Given the description of an element on the screen output the (x, y) to click on. 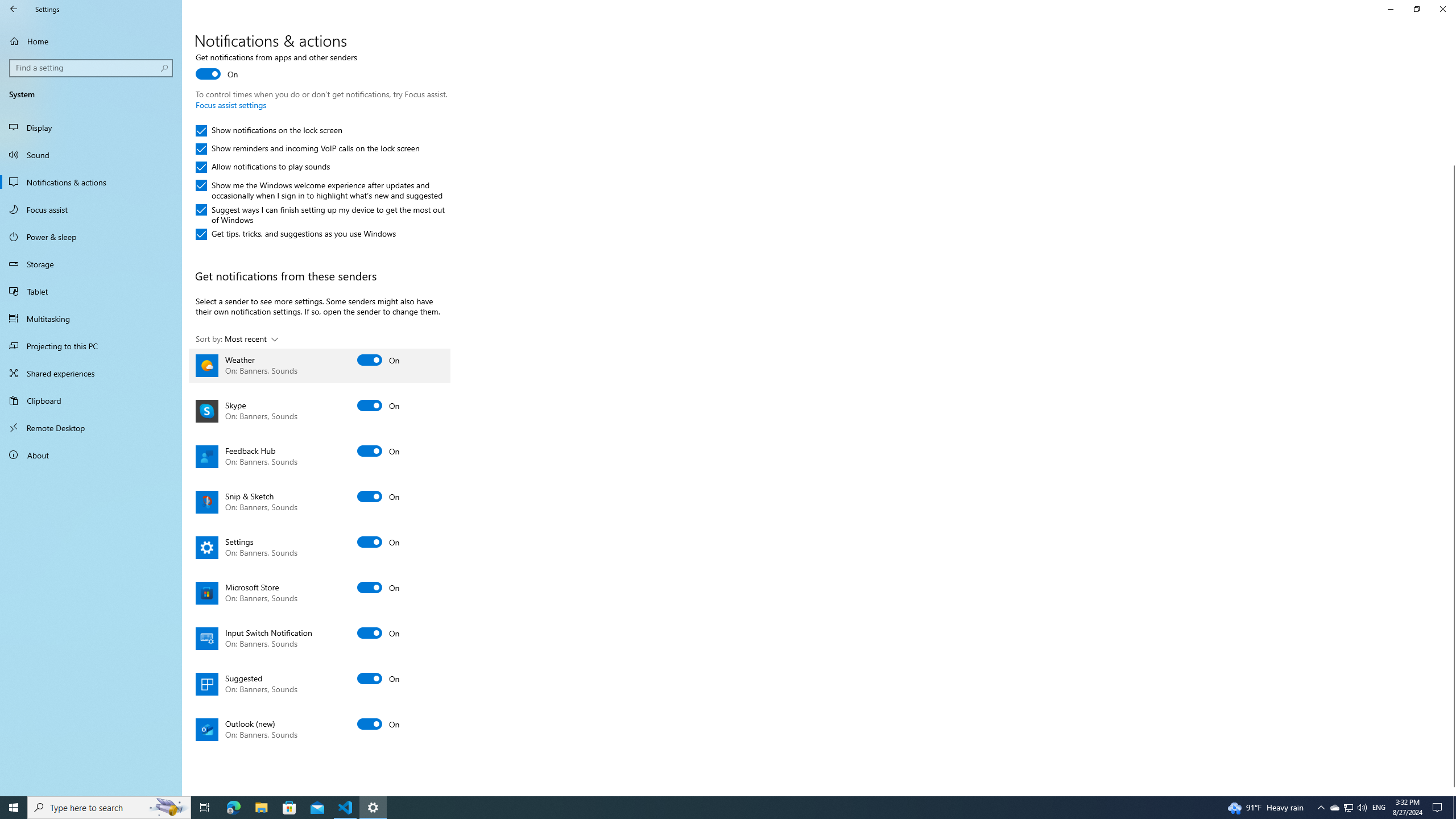
Snip & Sketch (319, 501)
Vertical (1451, 425)
